Given the description of an element on the screen output the (x, y) to click on. 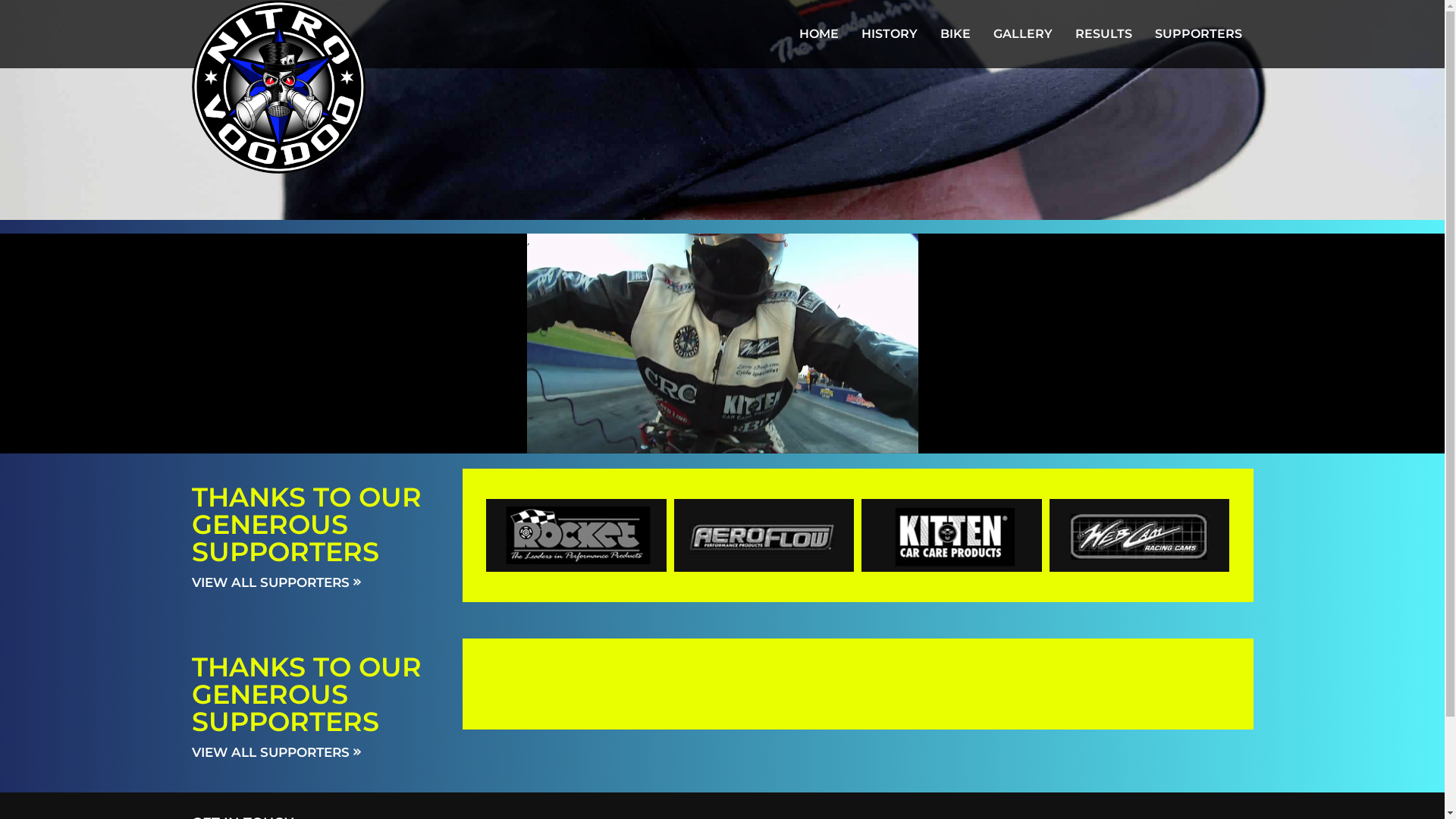
BIKE Element type: text (954, 34)
VIEW ALL SUPPORTERS Element type: text (275, 751)
HOME Element type: text (818, 34)
RESULTS Element type: text (1102, 34)
VIEW ALL SUPPORTERS Element type: text (275, 581)
GALLERY Element type: text (1022, 34)
SUPPORTERS Element type: text (1198, 34)
HISTORY Element type: text (888, 34)
